Given the description of an element on the screen output the (x, y) to click on. 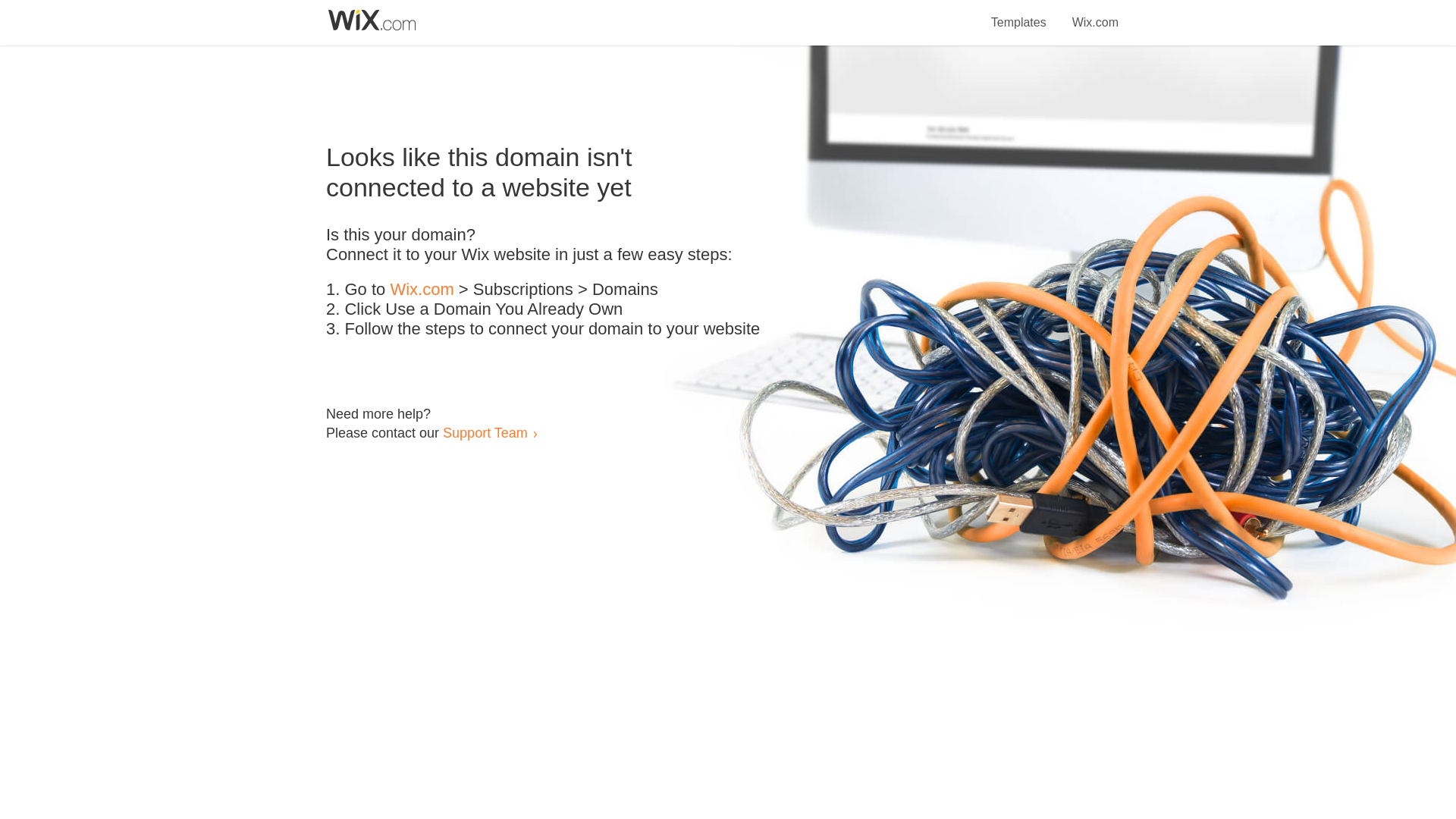
Wix.com (421, 289)
Wix.com (1095, 14)
Templates (1018, 14)
Support Team (484, 432)
